Given the description of an element on the screen output the (x, y) to click on. 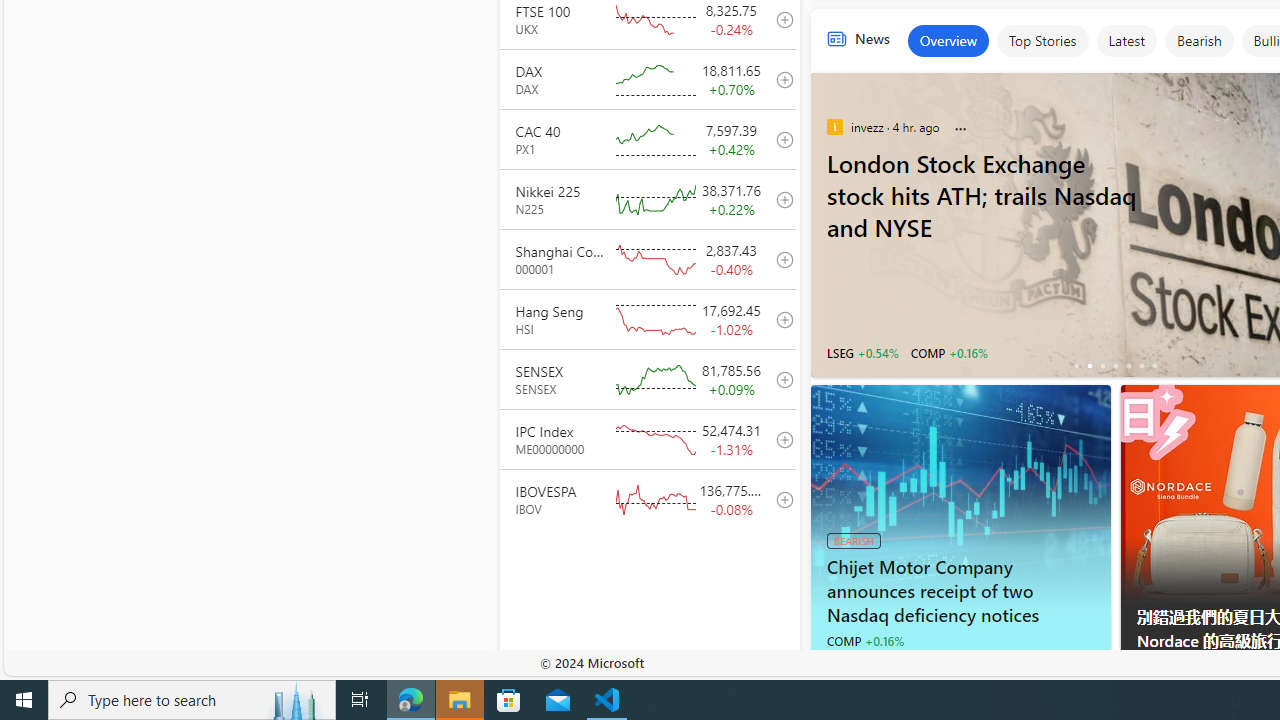
LSEG +0.54% (861, 352)
Top Stories (1041, 40)
Bearish (1198, 40)
add to your watchlist (779, 498)
